Given the description of an element on the screen output the (x, y) to click on. 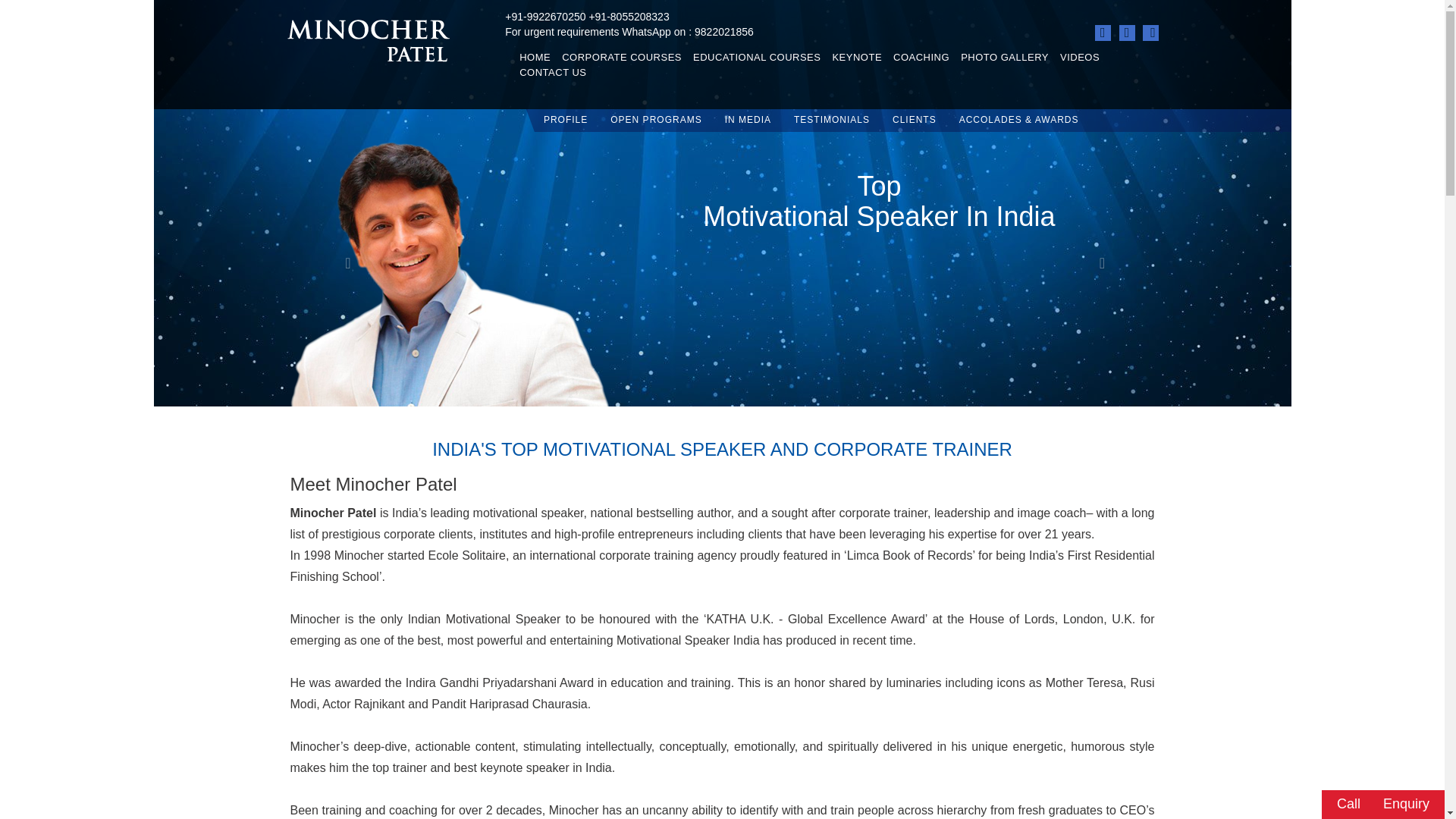
CLIENTS (913, 119)
LinkedIn (1102, 32)
Twitter (1127, 32)
TESTIMONIALS (831, 119)
IN MEDIA (748, 119)
KEYNOTE (855, 57)
VIDEOS (1079, 57)
CONTACT US (549, 72)
OPEN PROGRAMS (655, 119)
Minocher Patel (377, 39)
